Given the description of an element on the screen output the (x, y) to click on. 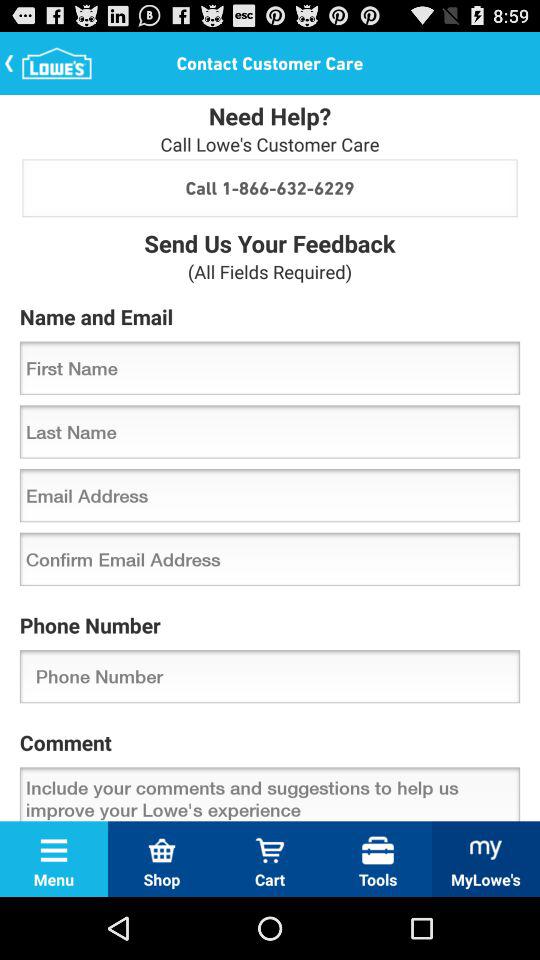
turn on item below the phone number icon (269, 676)
